Given the description of an element on the screen output the (x, y) to click on. 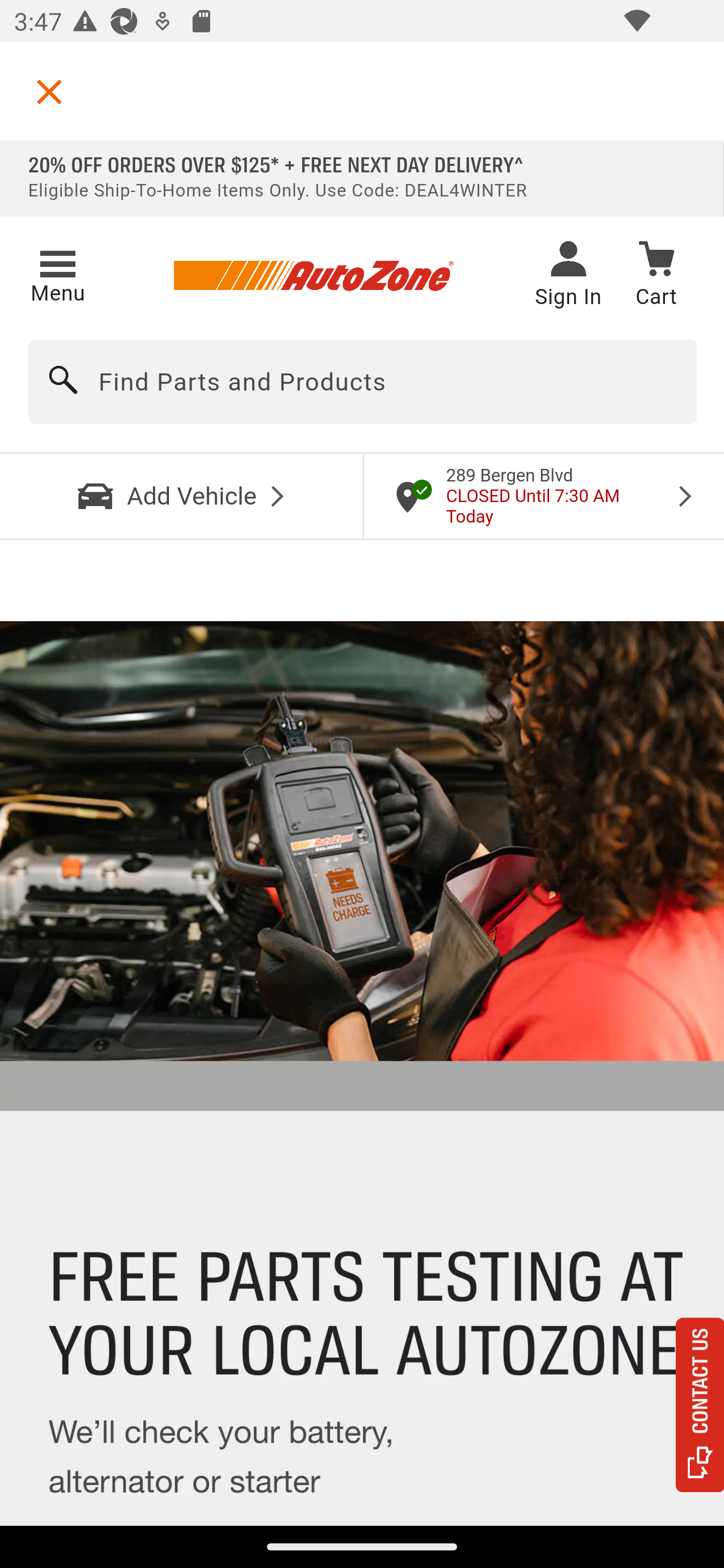
 (49, 91)
Menu (57, 273)
Sign In (567, 276)
AutoZone Logo (links to homepage) (312, 276)
shopping cart 0 items (655, 277)
Search (63, 382)
Add Vehicle (182, 495)
Contact Us (699, 1404)
